Given the description of an element on the screen output the (x, y) to click on. 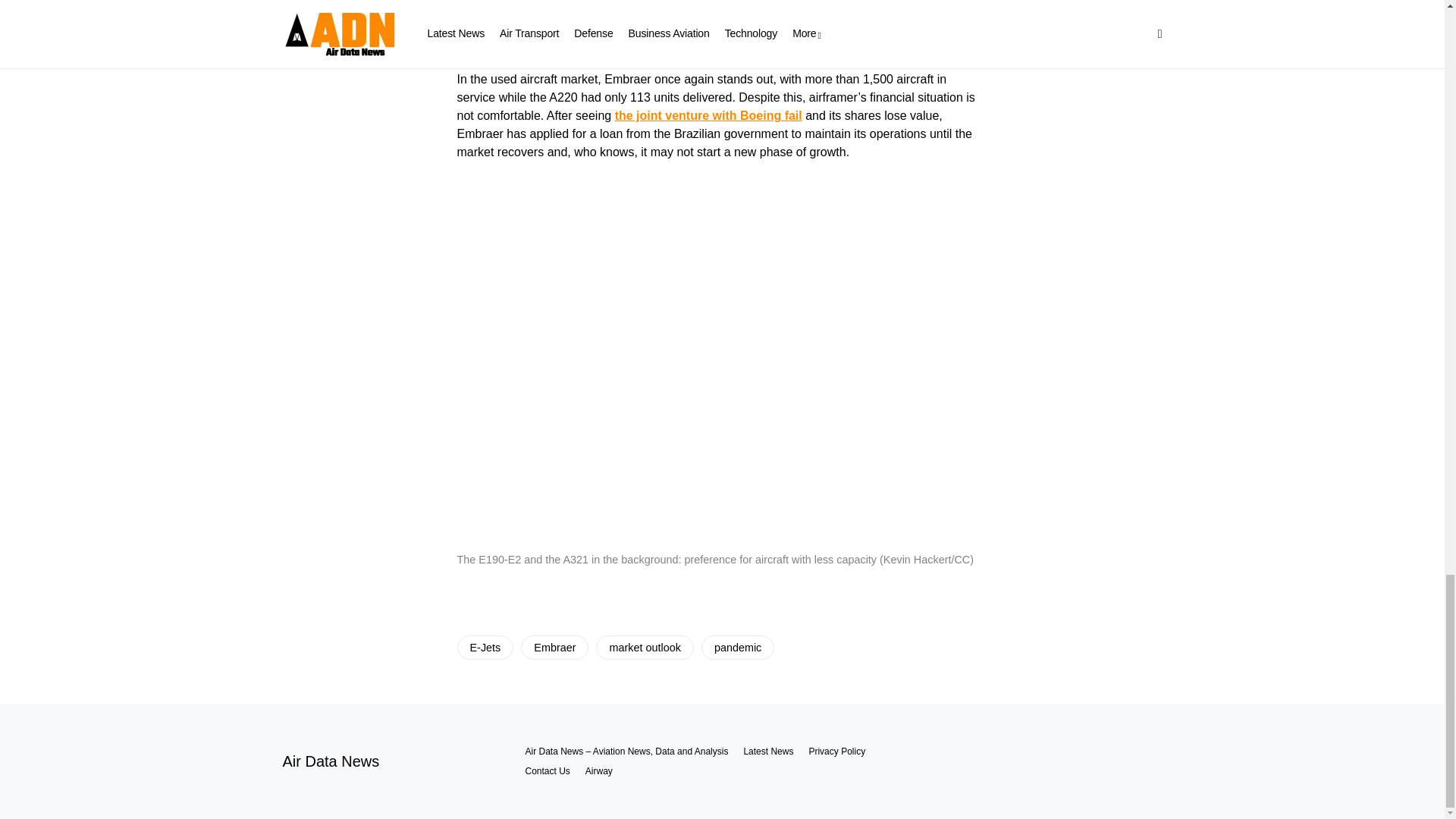
pandemic (737, 647)
market outlook (644, 647)
Embraer (554, 647)
Air Data News (330, 761)
E-Jets (485, 647)
the joint venture with Boeing fail (708, 115)
